Given the description of an element on the screen output the (x, y) to click on. 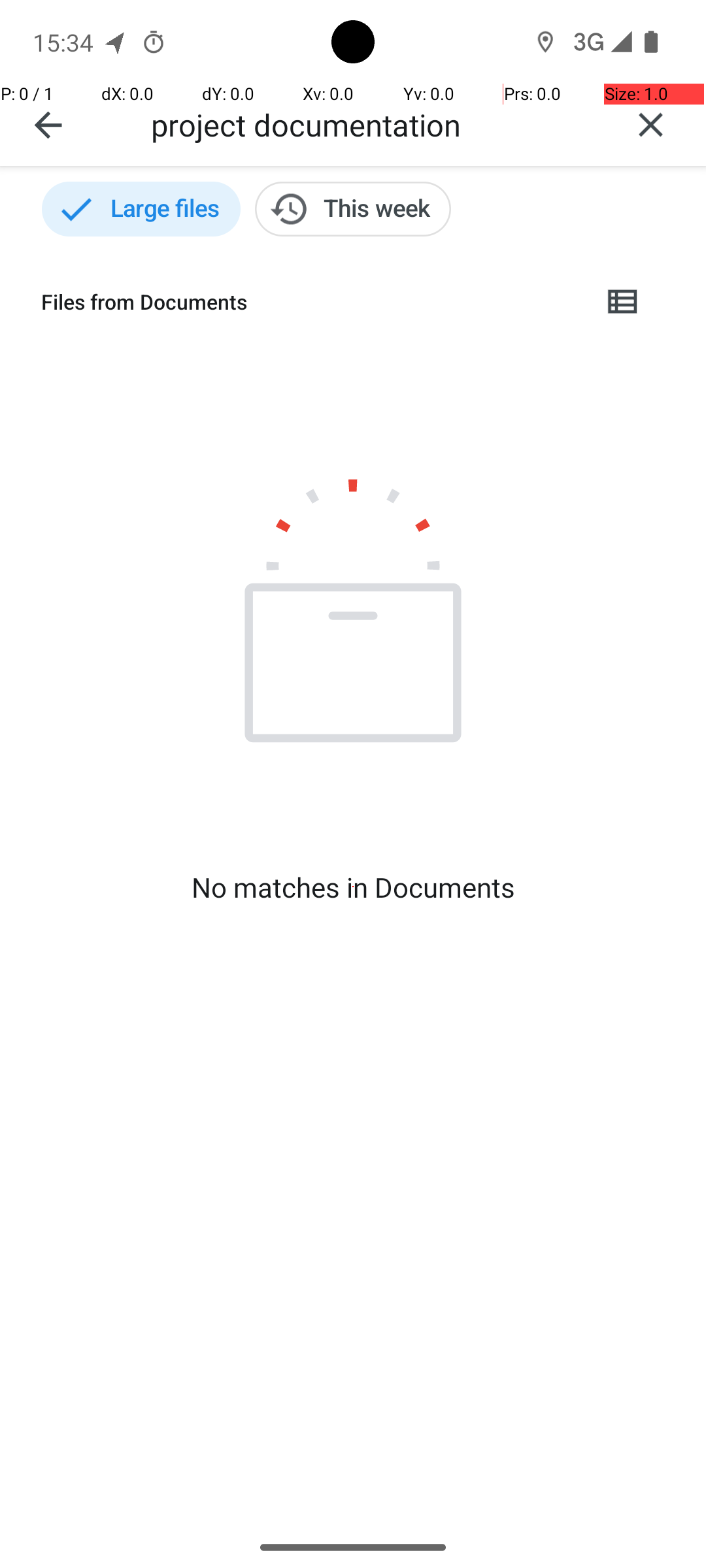
project documentation Element type: android.widget.AutoCompleteTextView (373, 124)
No matches in Documents Element type: android.widget.TextView (352, 886)
